Given the description of an element on the screen output the (x, y) to click on. 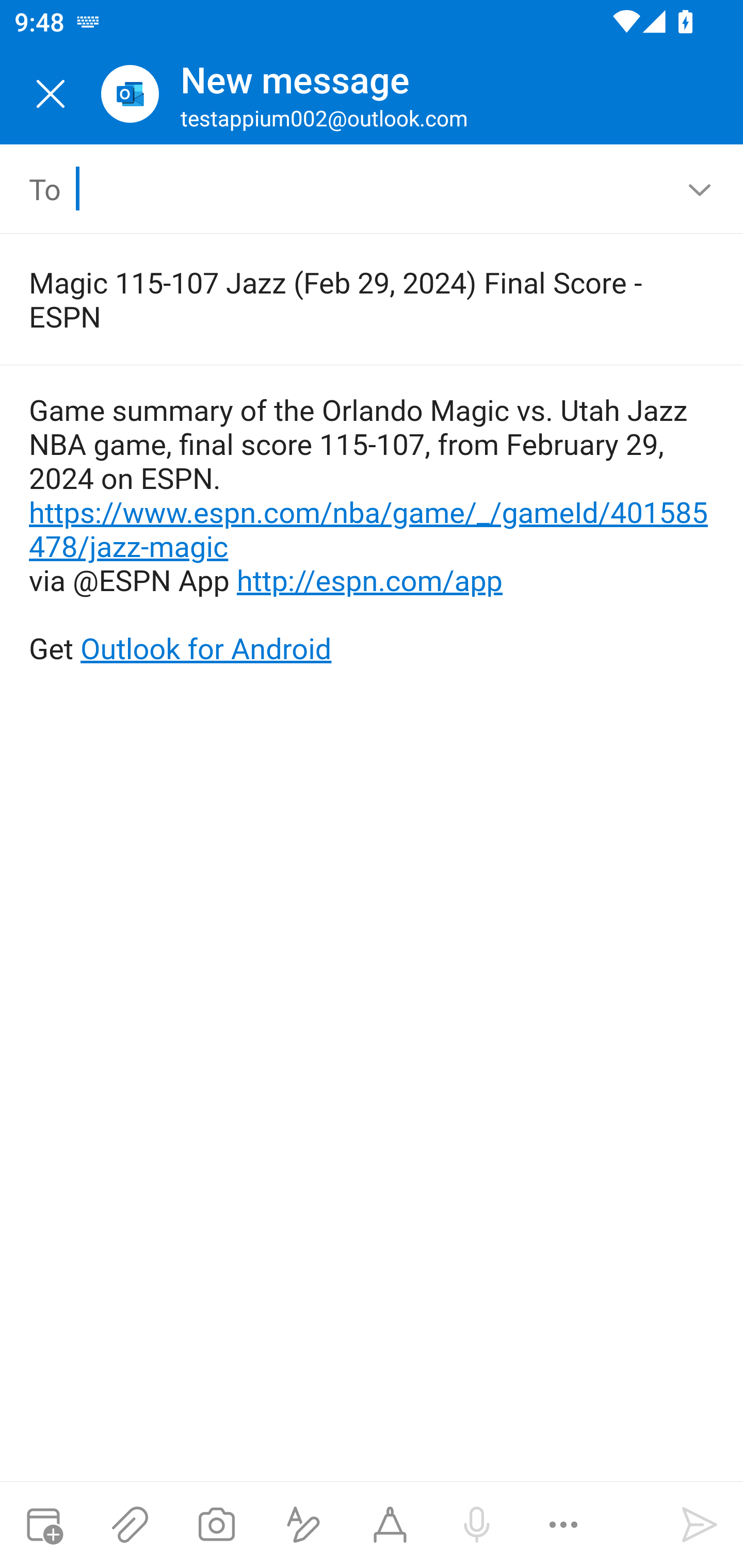
Close (50, 93)
Attach meeting (43, 1524)
Attach files (129, 1524)
Take a photo (216, 1524)
Show formatting options (303, 1524)
Start Ink compose (389, 1524)
More options (563, 1524)
Send (699, 1524)
